Given the description of an element on the screen output the (x, y) to click on. 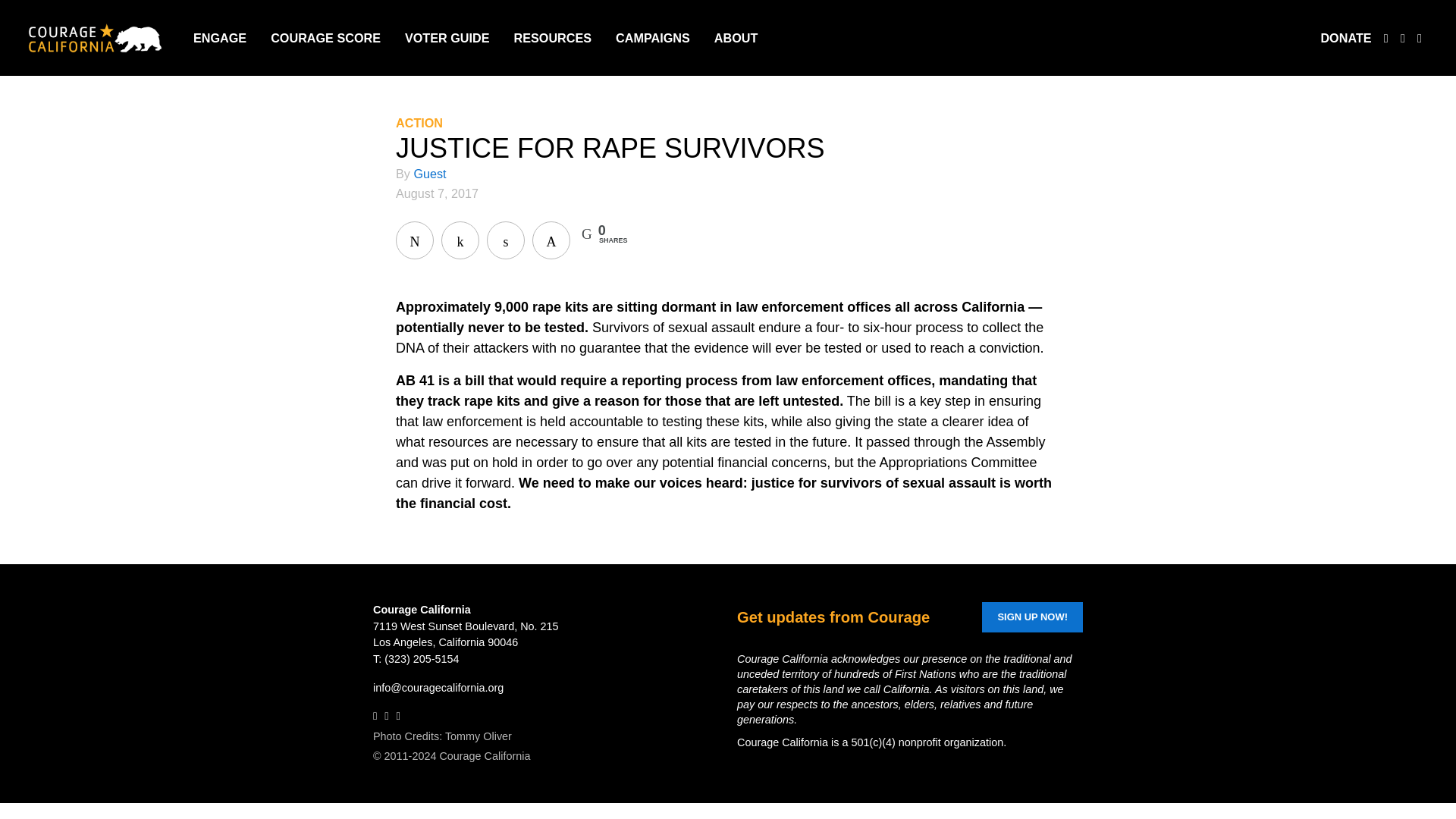
ABOUT (736, 37)
COURAGE SCORE (325, 37)
DONATE (1345, 37)
ACTION (419, 122)
ENGAGE (219, 37)
Guest (429, 173)
VOTER GUIDE (446, 37)
CAMPAIGNS (652, 37)
RESOURCES (552, 37)
